Given the description of an element on the screen output the (x, y) to click on. 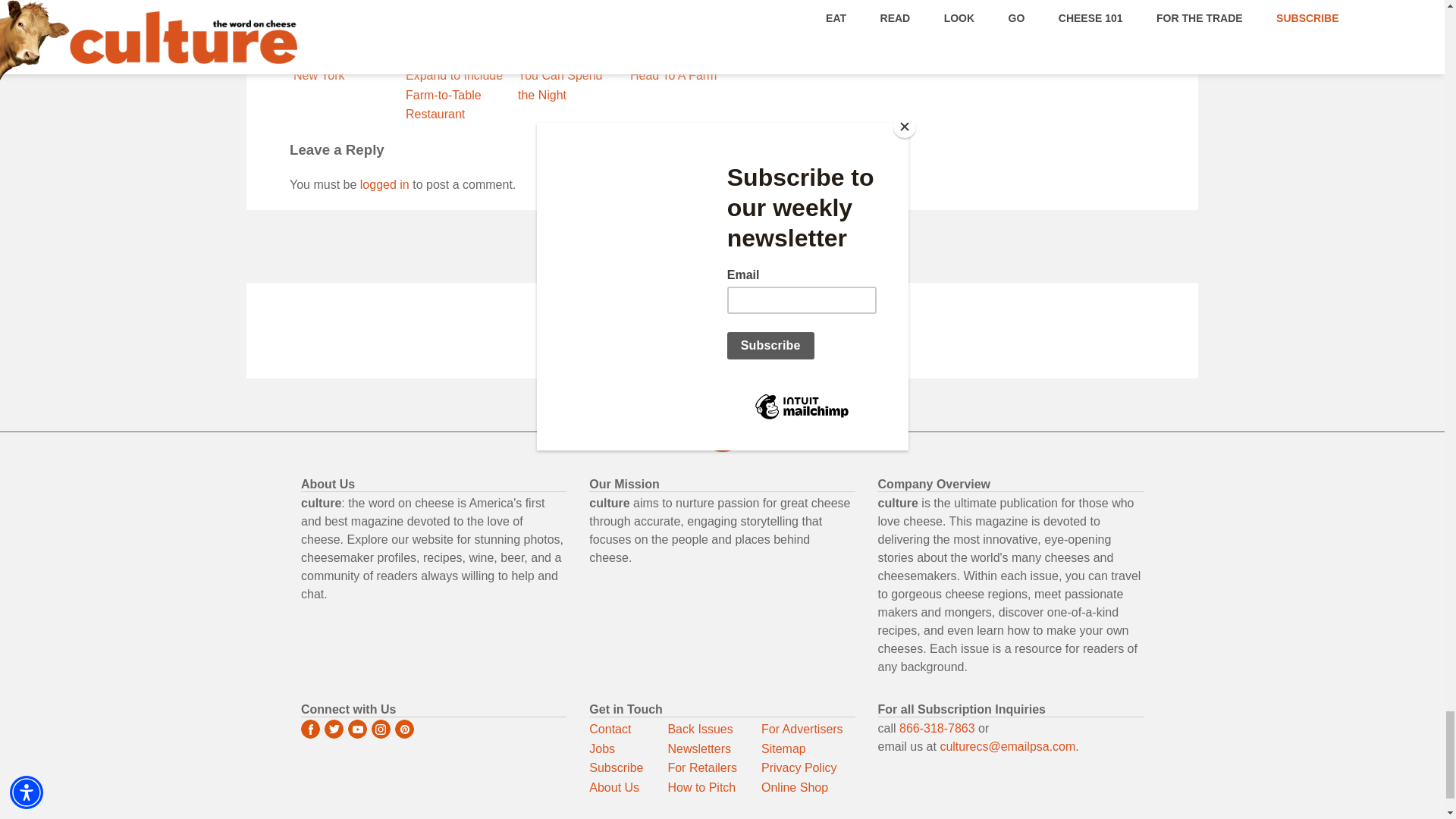
3rd party ad content (721, 332)
